Given the description of an element on the screen output the (x, y) to click on. 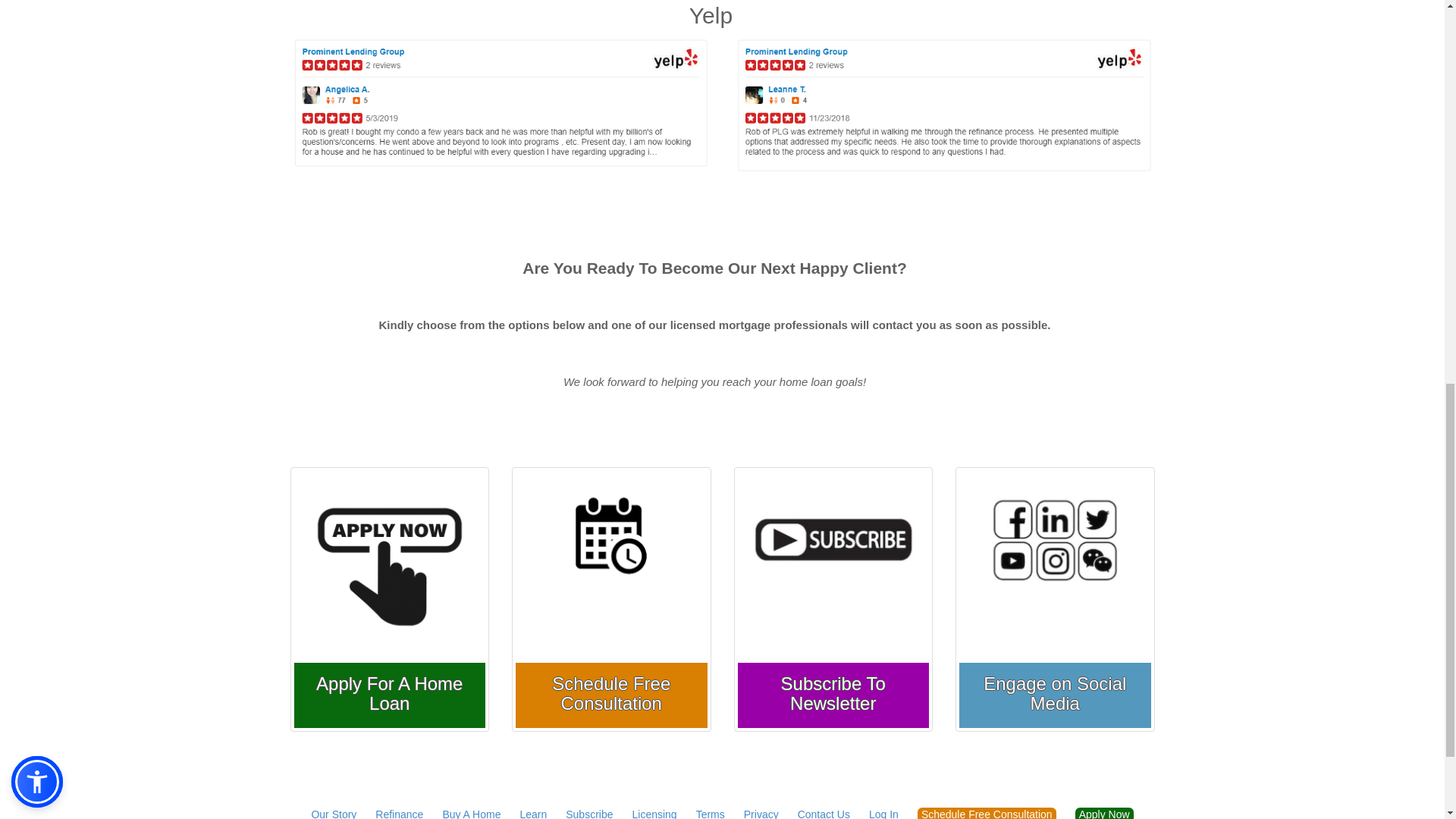
Click here to see Prominent Lending Group Licensing (654, 813)
Click here to see Prominent Lending Group Privacy Policy (761, 813)
Click here to read about Prominent Lending Group's Story (333, 813)
Click here to Contact Prominent Lending Group (823, 813)
Click here Login to Prominent Lending Group's web portal (883, 813)
